Given the description of an element on the screen output the (x, y) to click on. 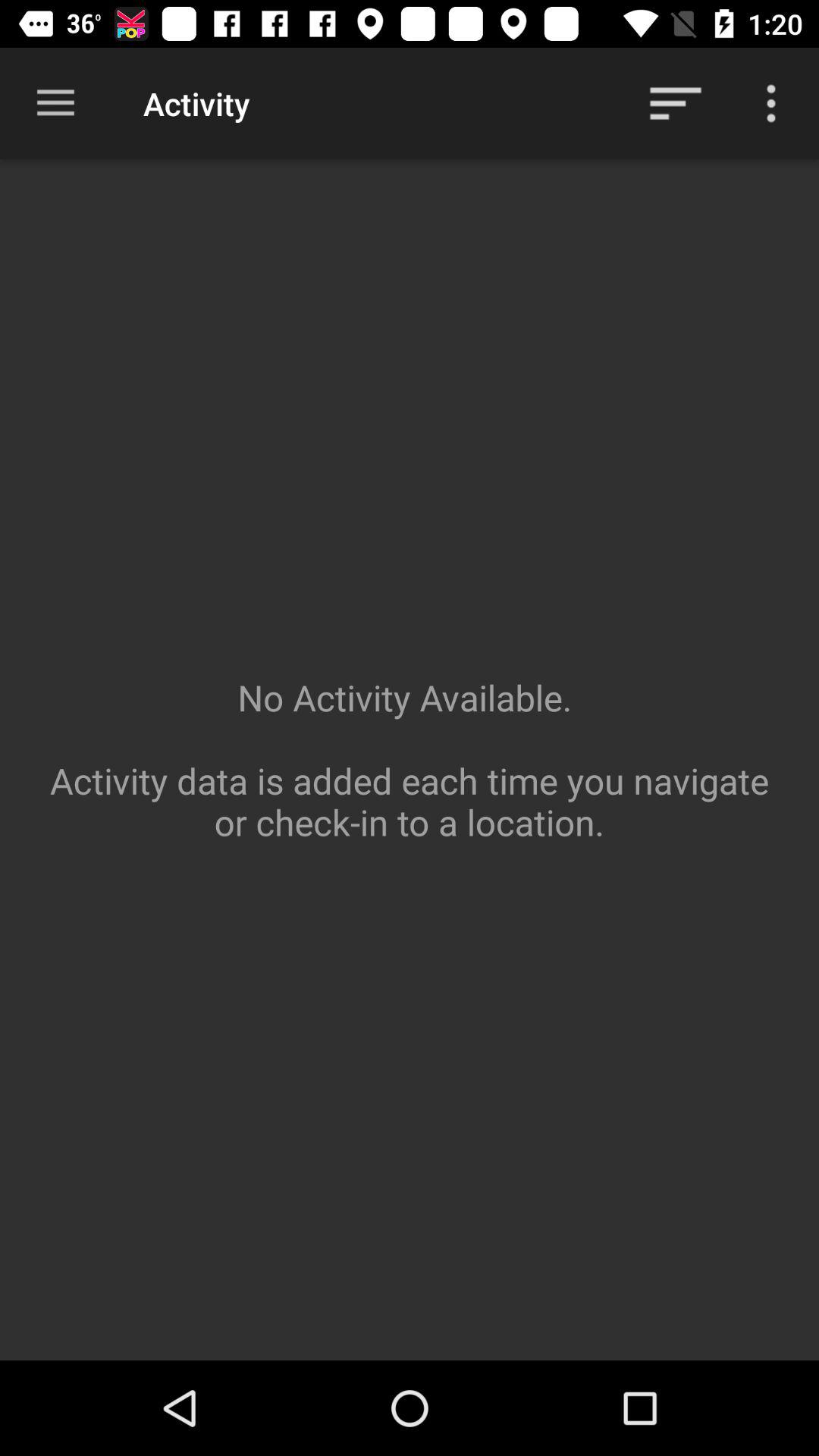
turn on the item above the no activity available (55, 103)
